Given the description of an element on the screen output the (x, y) to click on. 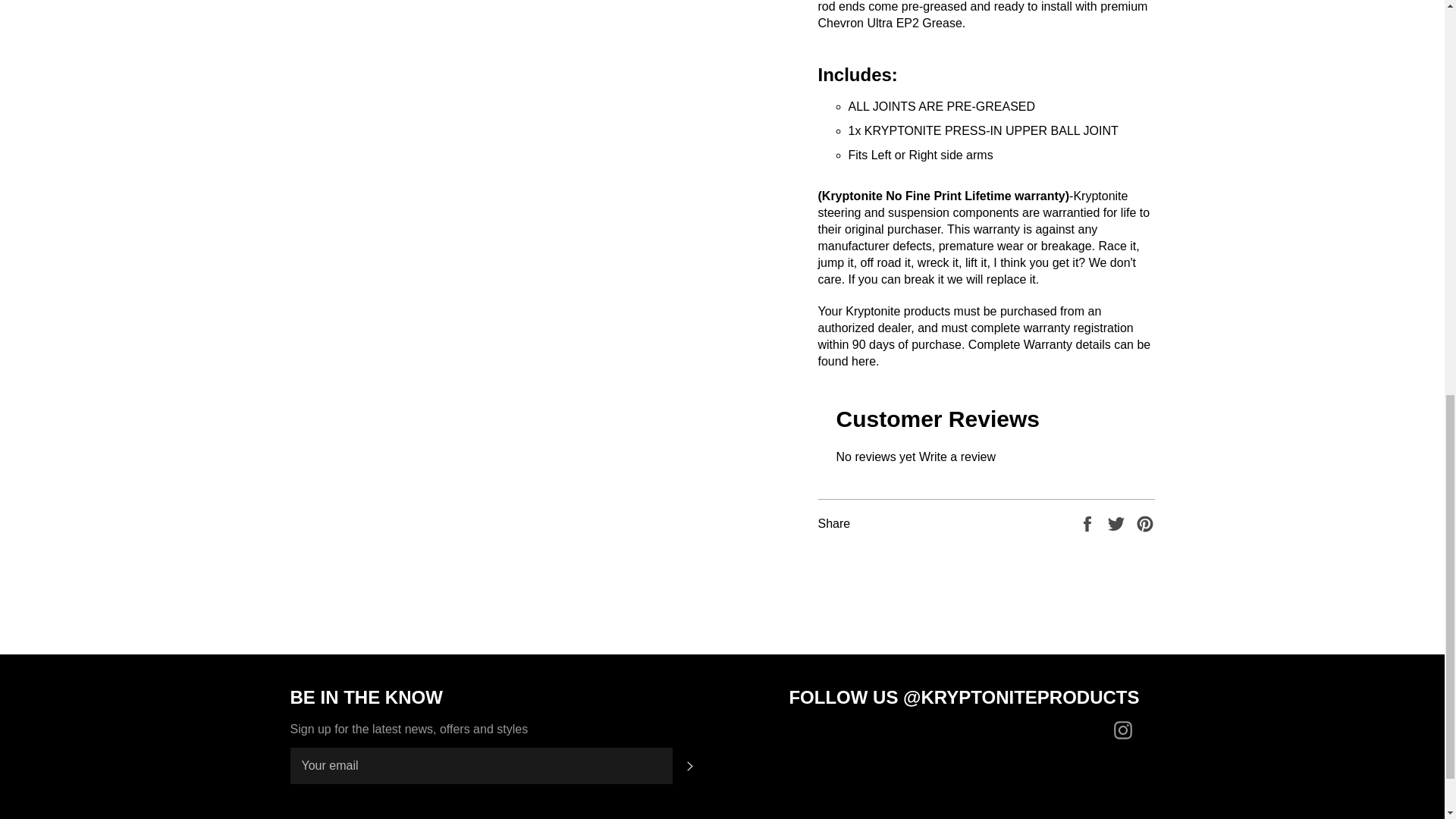
Kryptonite Products on Instagram (1125, 730)
Pin on Pinterest (1144, 522)
Share on Facebook (1088, 522)
Tweet on Twitter (1117, 522)
